Given the description of an element on the screen output the (x, y) to click on. 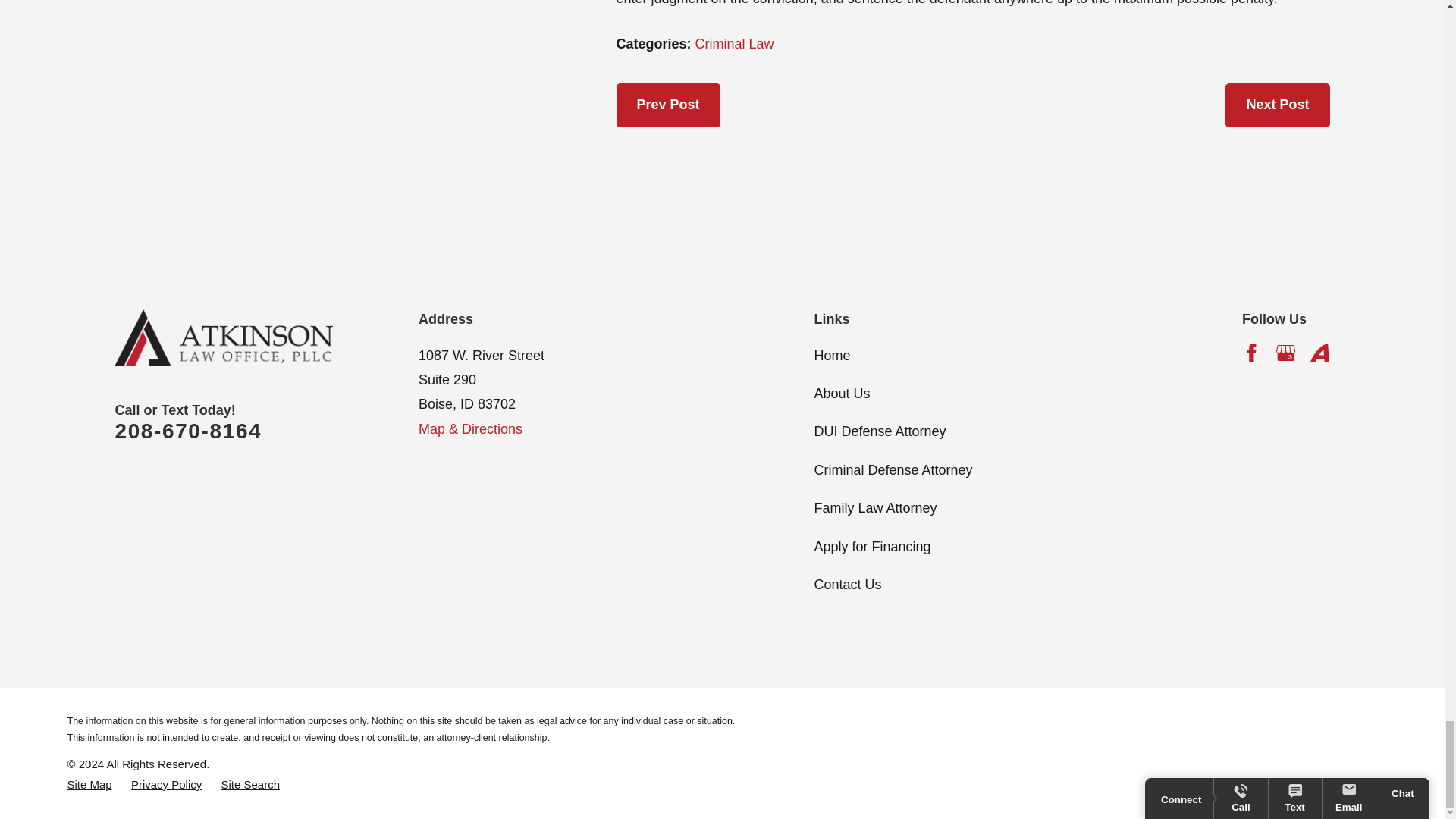
Avvo (1319, 352)
Home (224, 337)
Facebook (1250, 352)
Google Business Profile (1285, 352)
